Given the description of an element on the screen output the (x, y) to click on. 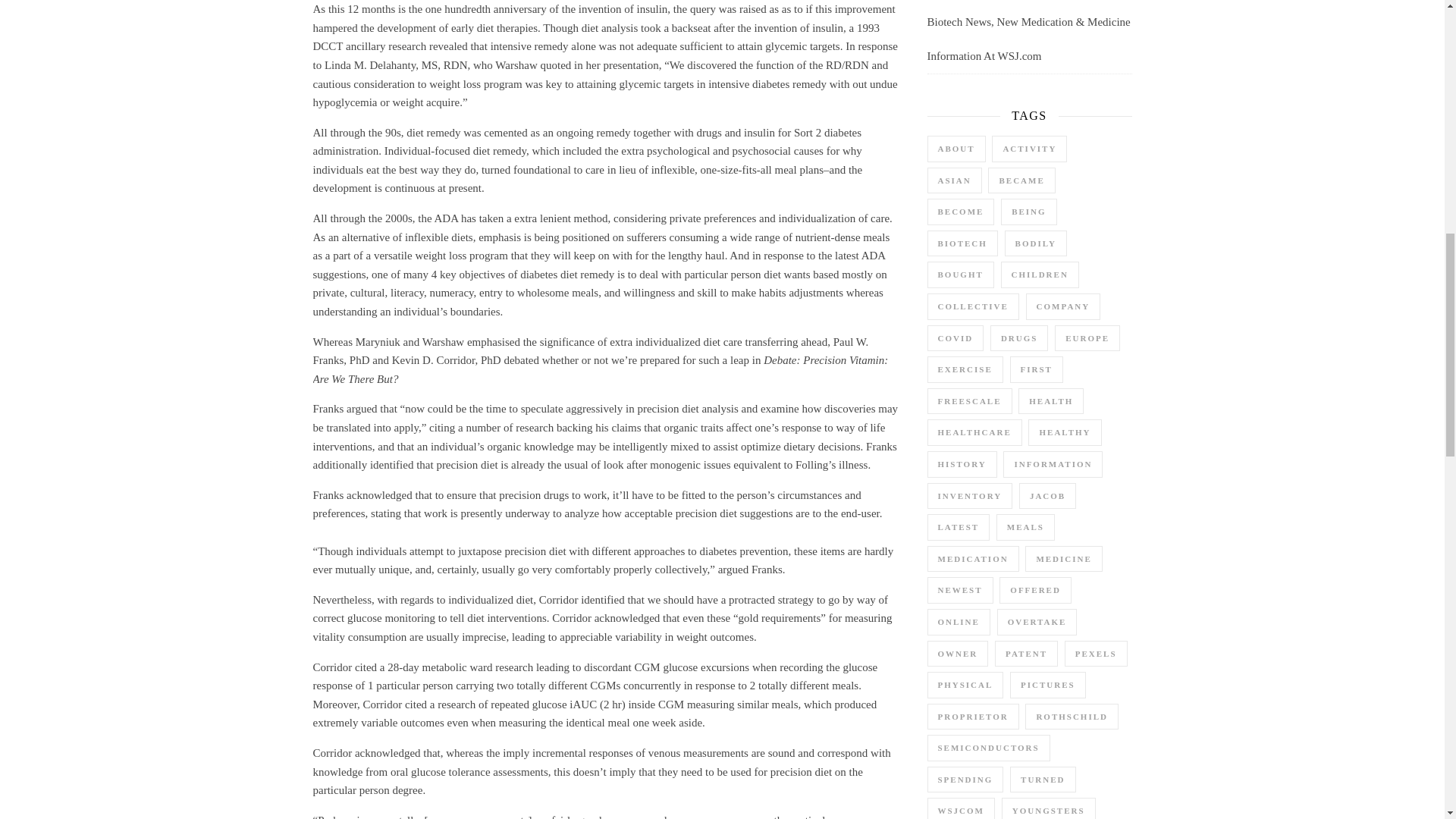
BECOME (960, 212)
FREESCALE (968, 401)
OFFERED (1034, 590)
PICTURES (1048, 684)
EXERCISE (964, 369)
PEXELS (1095, 652)
PATENT (1026, 652)
HEALTHCARE (974, 432)
JACOB (1047, 496)
MEALS (1024, 527)
NEWEST (959, 590)
LATEST (958, 527)
ROTHSCHILD (1071, 716)
COMPANY (1063, 306)
OVERTAKE (1037, 622)
